Given the description of an element on the screen output the (x, y) to click on. 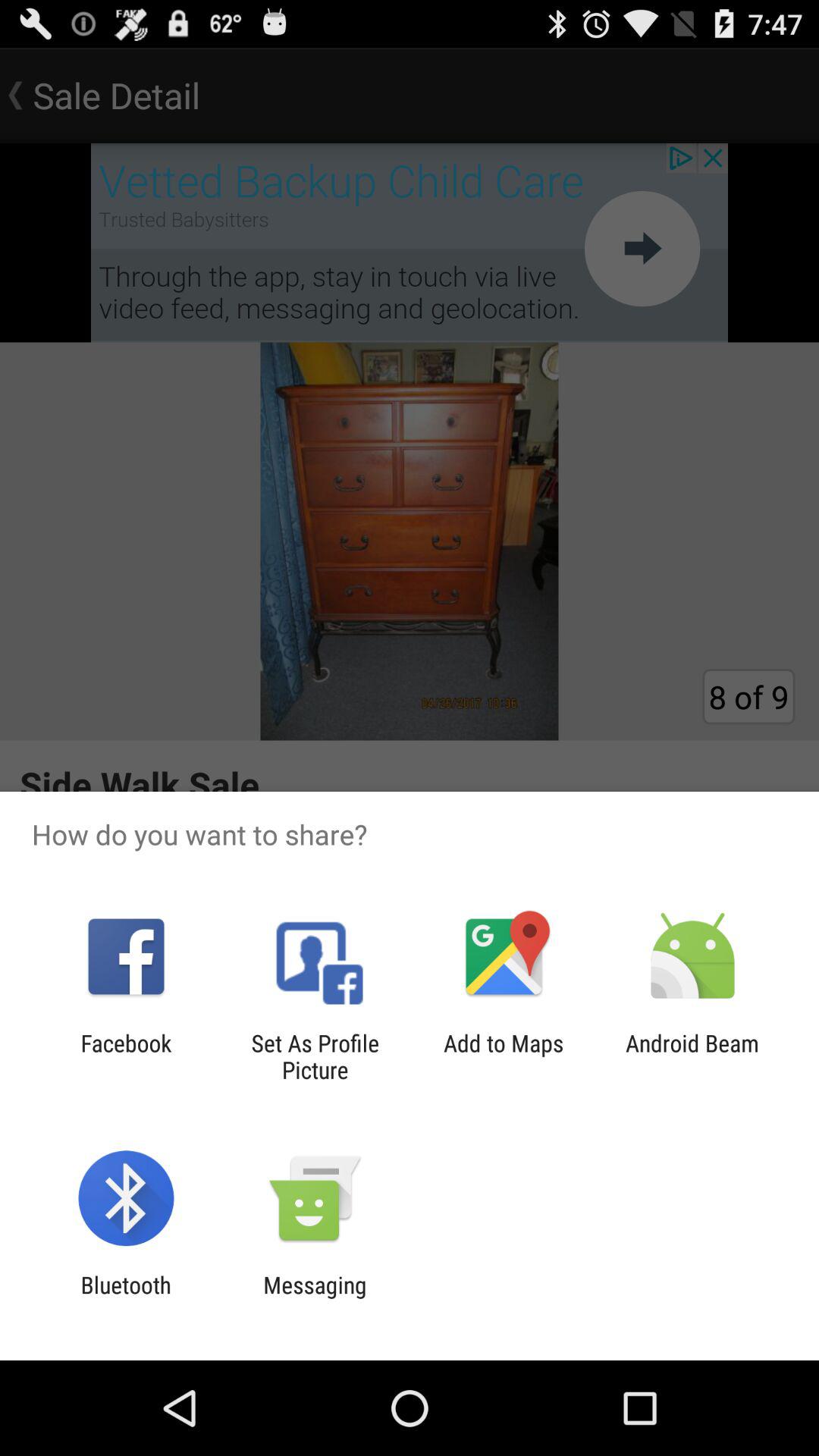
turn off the icon next to the add to maps (314, 1056)
